Given the description of an element on the screen output the (x, y) to click on. 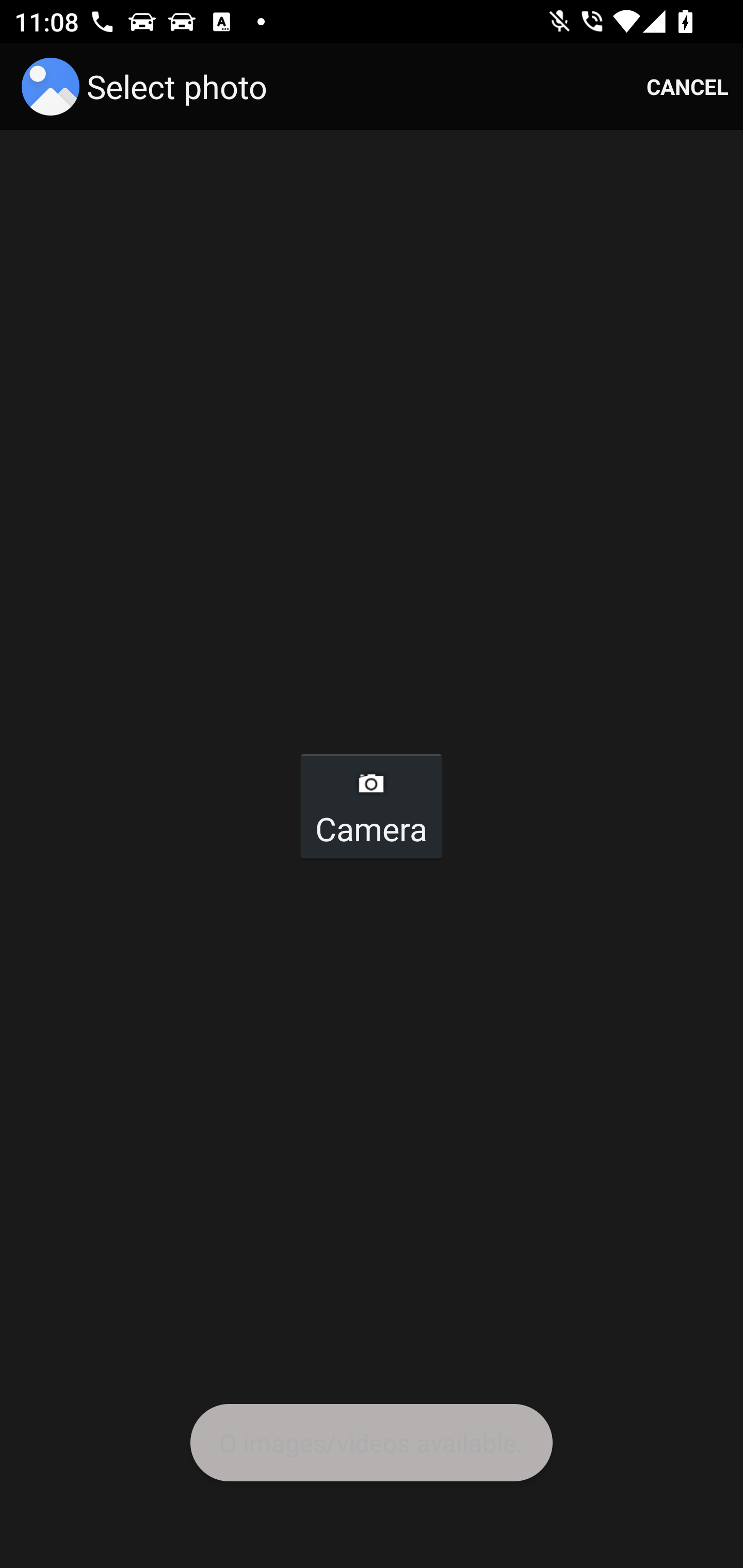
Select photo (148, 86)
CANCEL (687, 86)
Camera (370, 805)
